Given the description of an element on the screen output the (x, y) to click on. 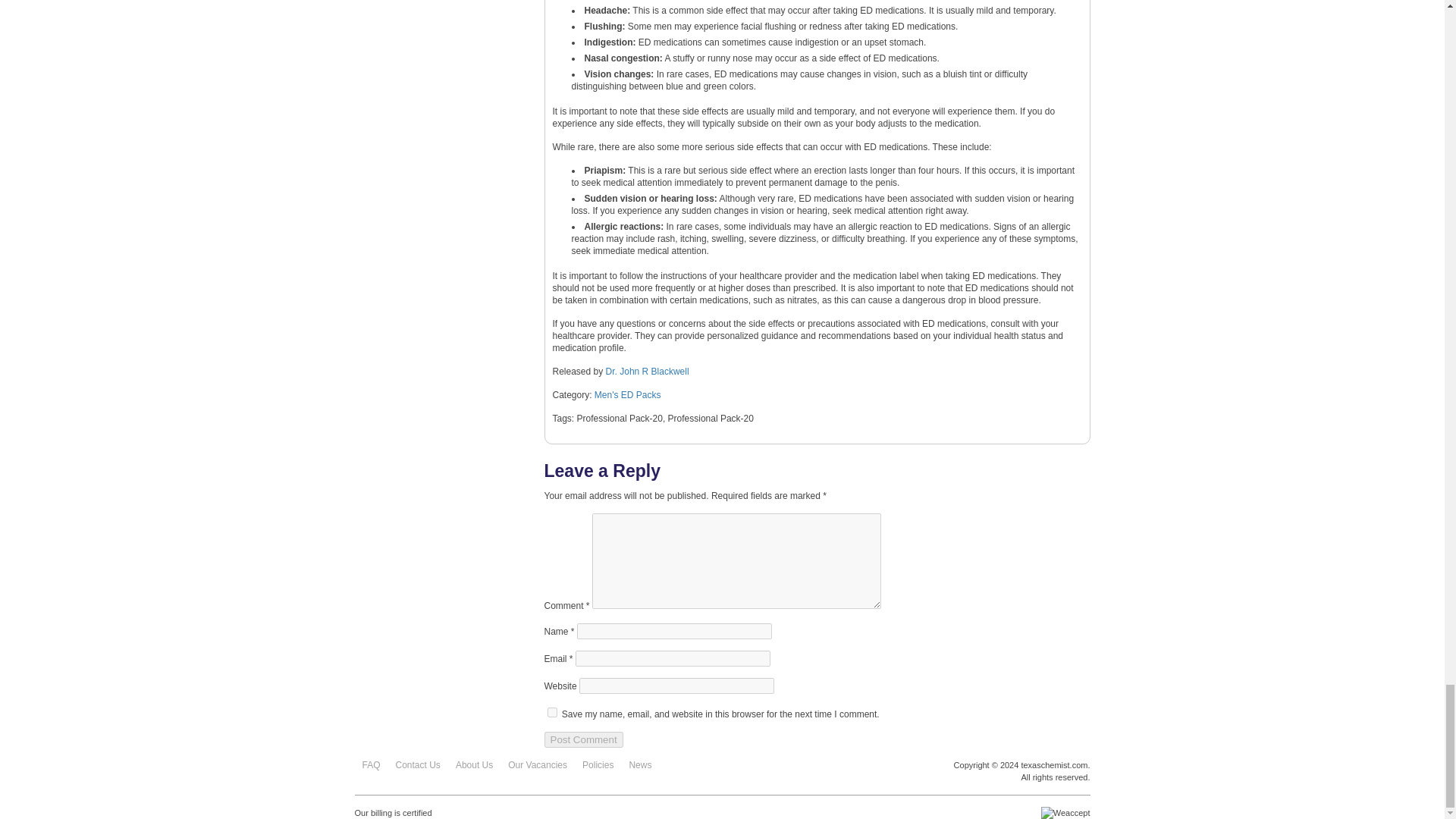
yes (552, 712)
Post Comment (583, 739)
Dr. John R Blackwell (646, 371)
Men's ED Packs (627, 394)
Posts by Dr. John R Blackwell (646, 371)
